Given the description of an element on the screen output the (x, y) to click on. 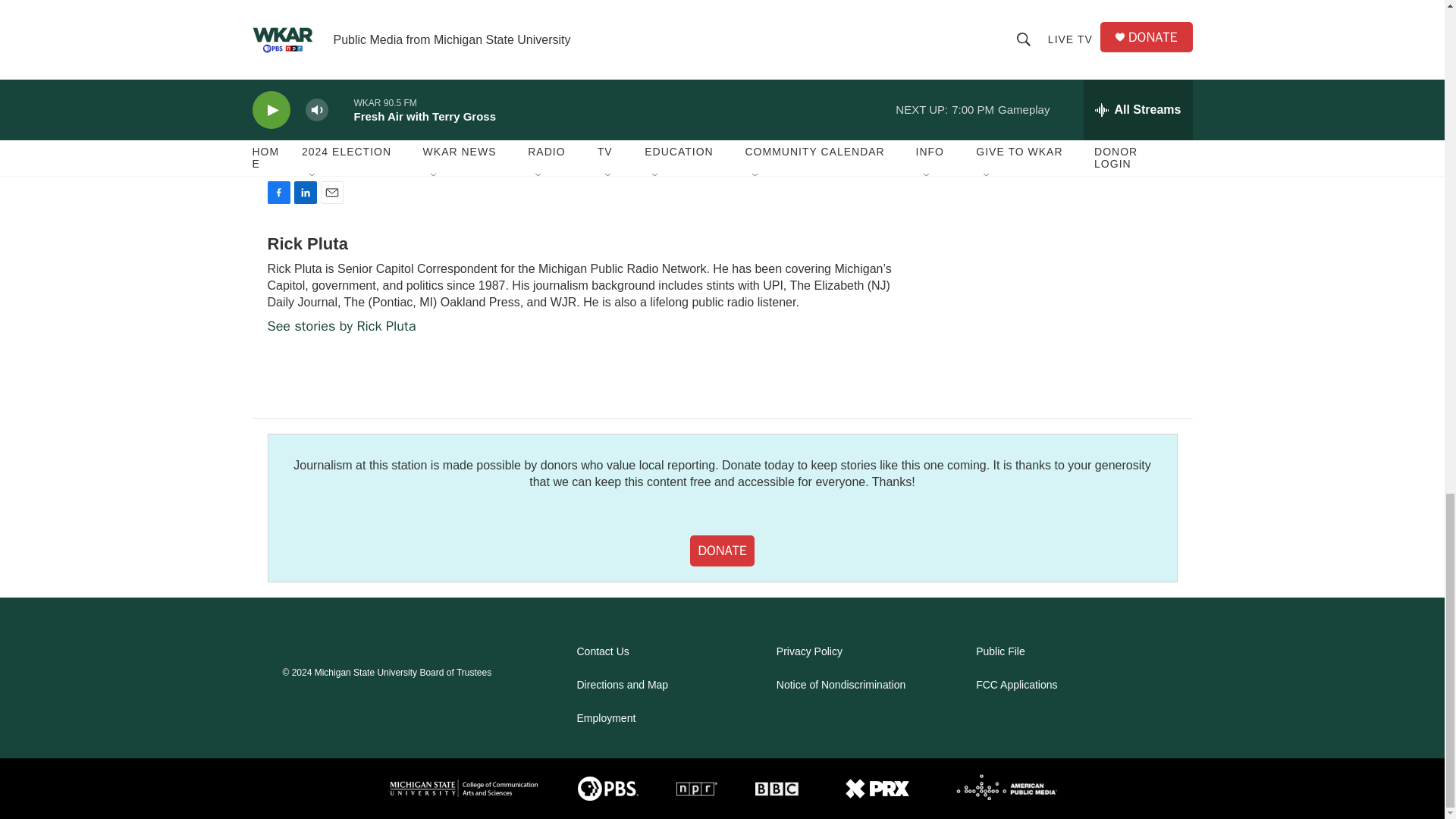
3rd party ad content (1062, 3)
